Given the description of an element on the screen output the (x, y) to click on. 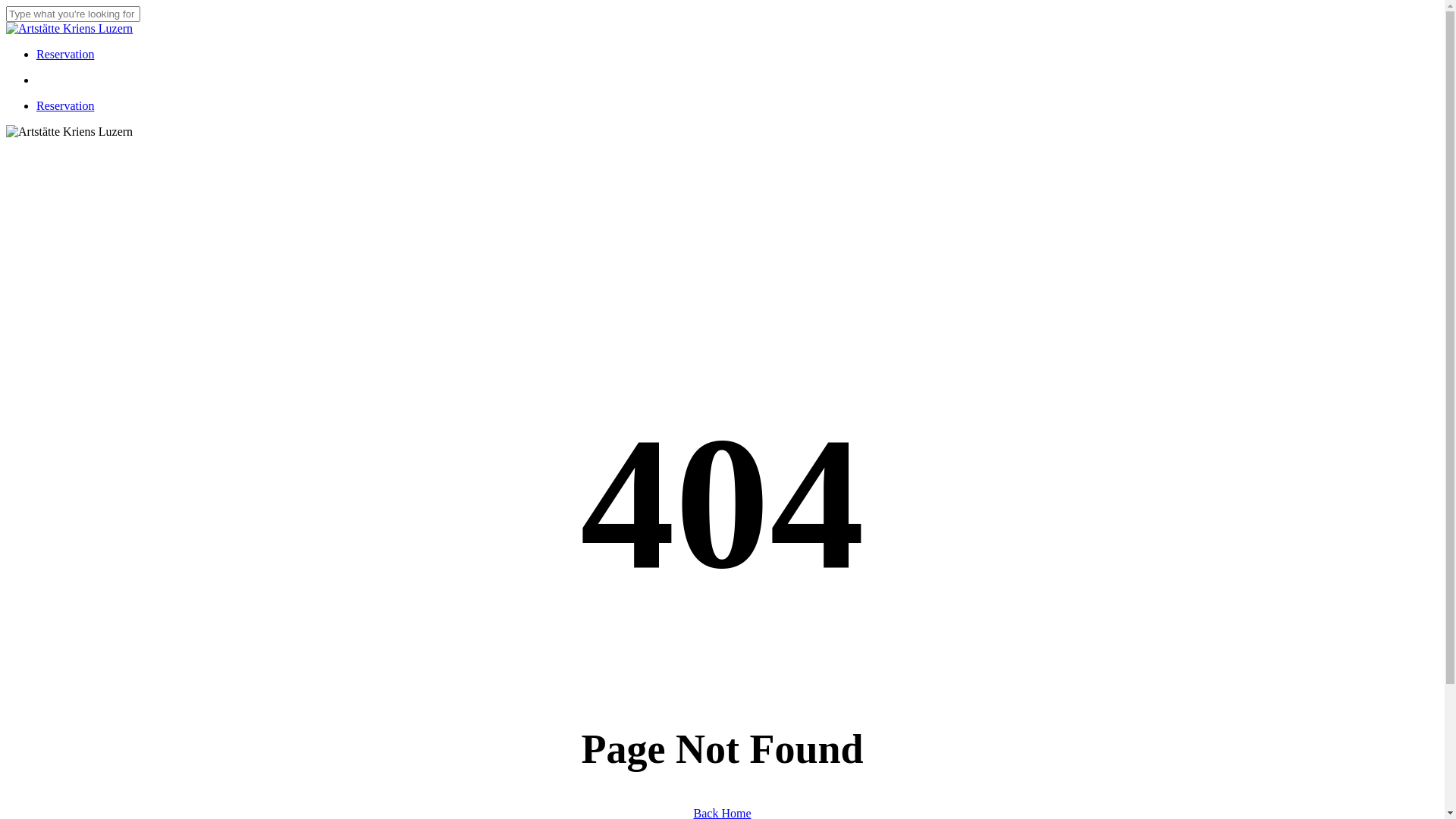
Skip to main content Element type: text (5, 5)
Reservation Element type: text (65, 105)
Reservation Element type: text (65, 53)
